Given the description of an element on the screen output the (x, y) to click on. 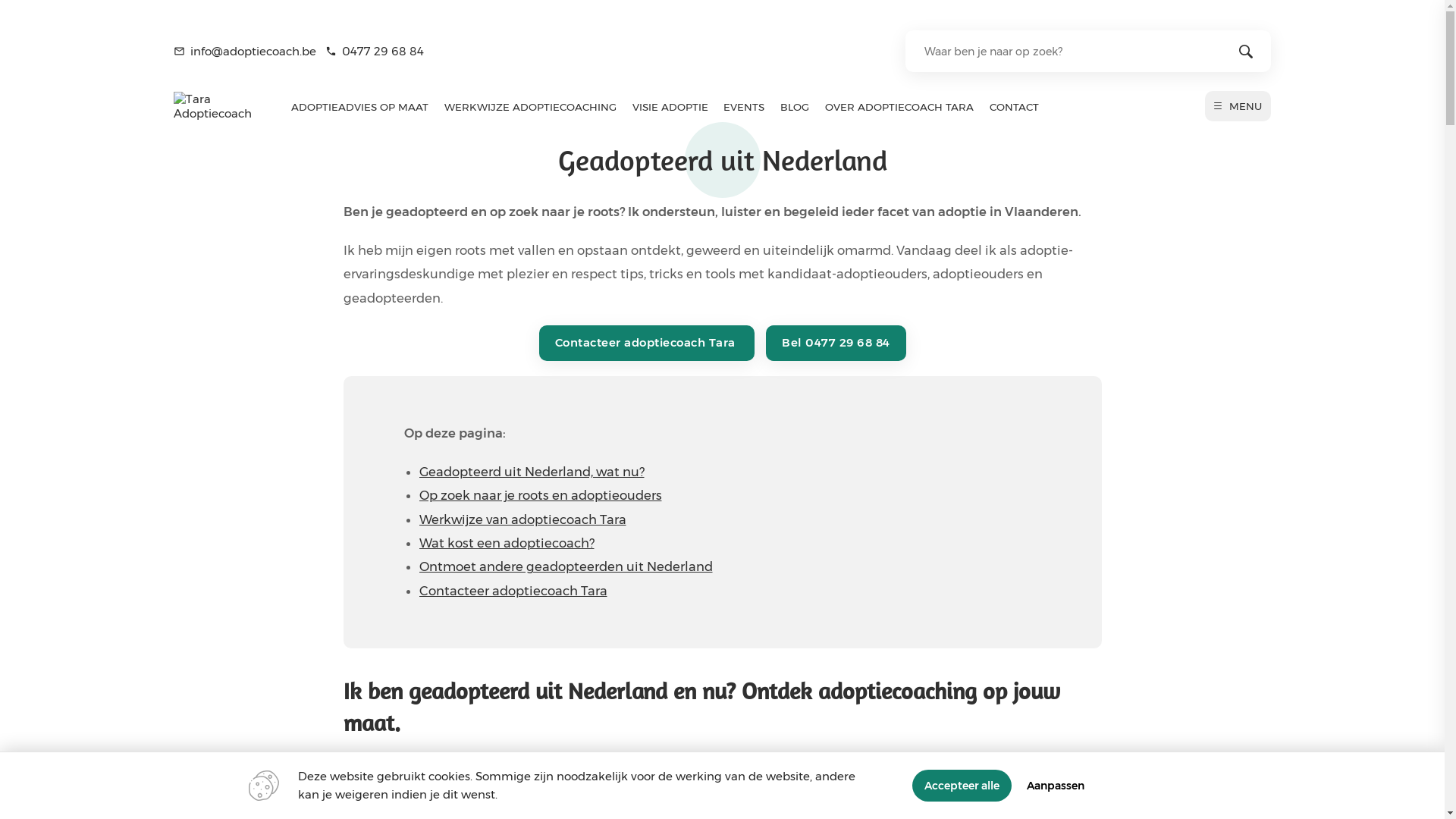
Contacteer adoptiecoach Tara Element type: text (512, 590)
OVER ADOPTIECOACH TARA Element type: text (899, 106)
BLOG Element type: text (794, 106)
phone
0477 29 68 84 Element type: text (374, 51)
CONTACT Element type: text (1014, 106)
Accepteer alle Element type: text (960, 785)
Wat kost een adoptiecoach? Element type: text (505, 543)
Werkwijze van adoptiecoach Tara Element type: text (521, 519)
mail_outline
info@adoptiecoach.be Element type: text (244, 51)
Tara Adoptiecoach Element type: hover (216, 113)
EVENTS Element type: text (743, 106)
Geadopteerd uit Nederland, wat nu? Element type: text (530, 471)
Bel 0477 29 68 84 Element type: text (835, 342)
VISIE ADOPTIE Element type: text (669, 106)
WERKWIJZE ADOPTIECOACHING Element type: text (529, 106)
MENU Element type: text (1237, 106)
Op zoek naar je roots en adoptieouders Element type: text (539, 495)
Ontmoet andere geadopteerden uit Nederland Element type: text (565, 566)
Aanpassen Element type: text (1055, 785)
Contacteer adoptiecoach Tara  Element type: text (646, 342)
ADOPTIEADVIES OP MAAT Element type: text (359, 106)
